Given the description of an element on the screen output the (x, y) to click on. 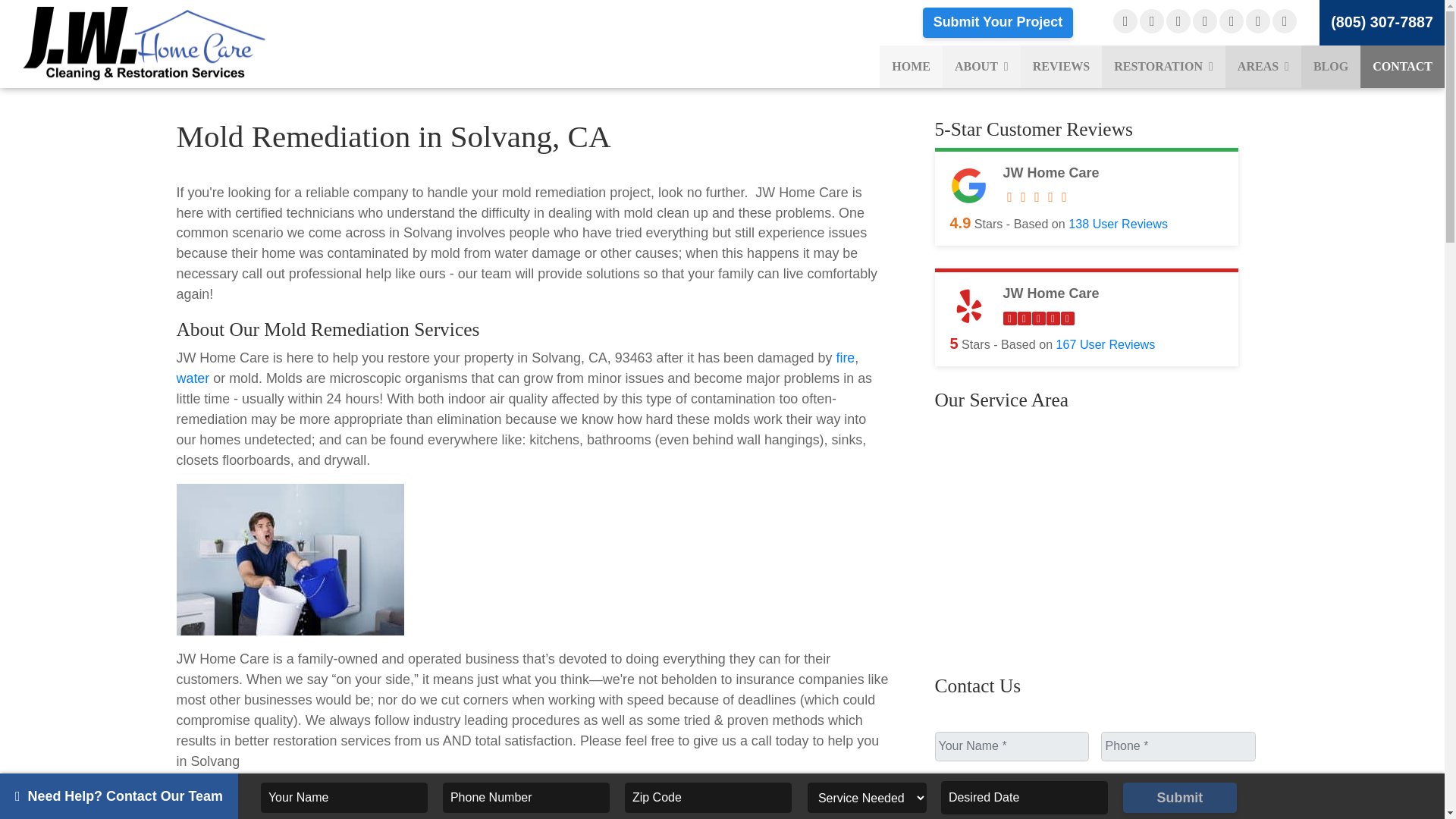
Submit Your Project (997, 22)
Twitter (1204, 21)
Pinterest (1284, 21)
RESTORATION (1163, 66)
AREAS (1263, 66)
JW Home Care (174, 43)
ABOUT (981, 66)
Facebook (1125, 21)
Instagram (1231, 21)
REVIEWS (1061, 66)
LinkedIn (1257, 21)
User Reviews (1106, 344)
User Reviews (1117, 223)
HOME (910, 66)
Submit (1179, 797)
